Given the description of an element on the screen output the (x, y) to click on. 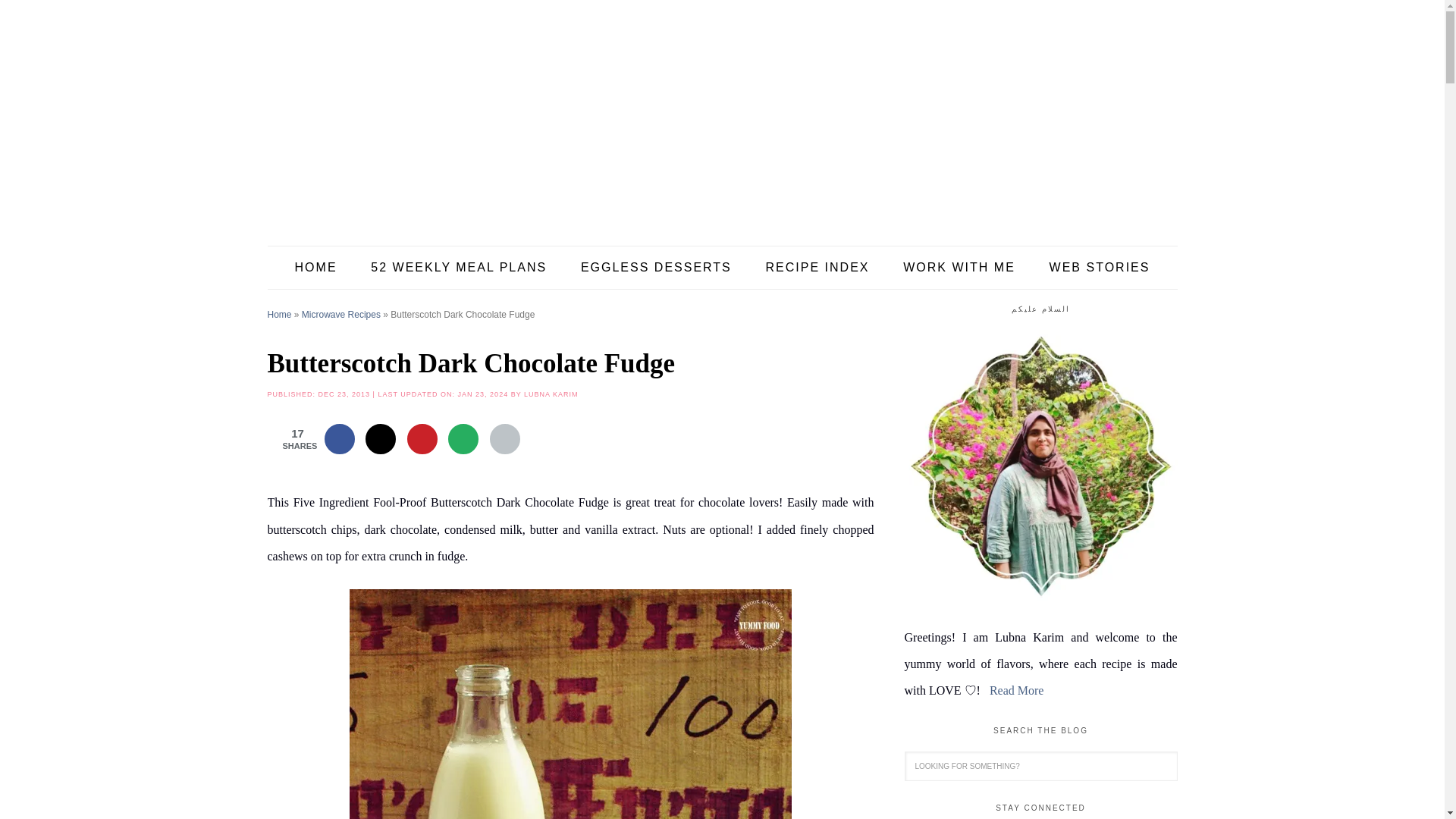
RECIPE INDEX (818, 267)
WORK WITH ME (959, 267)
Yummy Food (721, 120)
Save to Pinterest (421, 439)
Microwave Recipes (340, 314)
HOME (315, 267)
EGGLESS DESSERTS (656, 267)
WEB STORIES (1099, 267)
52 WEEKLY MEAL PLANS (458, 267)
